Given the description of an element on the screen output the (x, y) to click on. 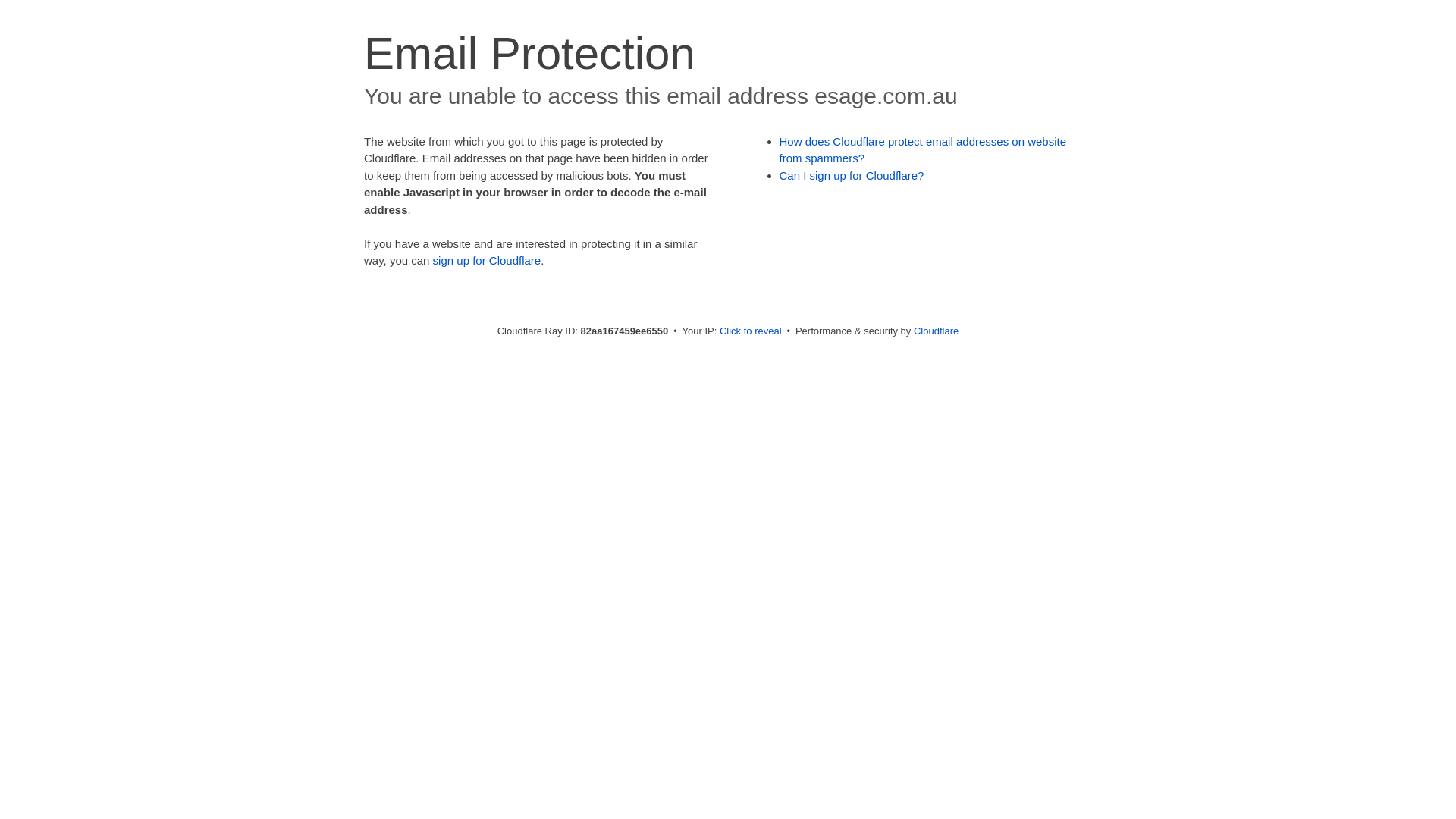
Click to reveal Element type: text (750, 330)
sign up for Cloudflare Element type: text (487, 260)
Can I sign up for Cloudflare? Element type: text (851, 175)
Cloudflare Element type: text (935, 330)
